Given the description of an element on the screen output the (x, y) to click on. 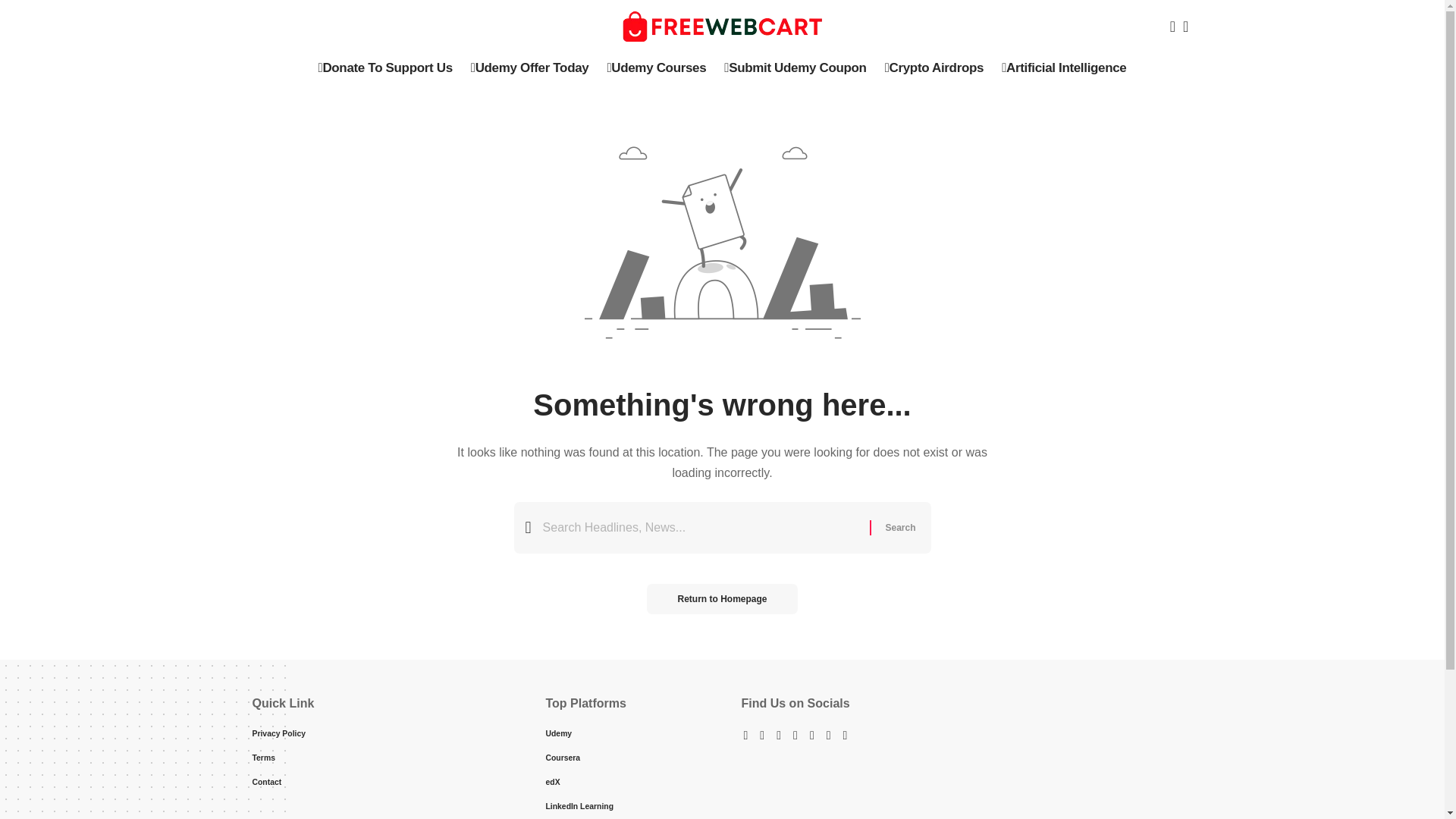
Search (899, 527)
Search (899, 527)
Contact (378, 781)
Return to Homepage (721, 598)
Freewebcart (722, 26)
Terms (378, 757)
Privacy Policy (378, 734)
